Given the description of an element on the screen output the (x, y) to click on. 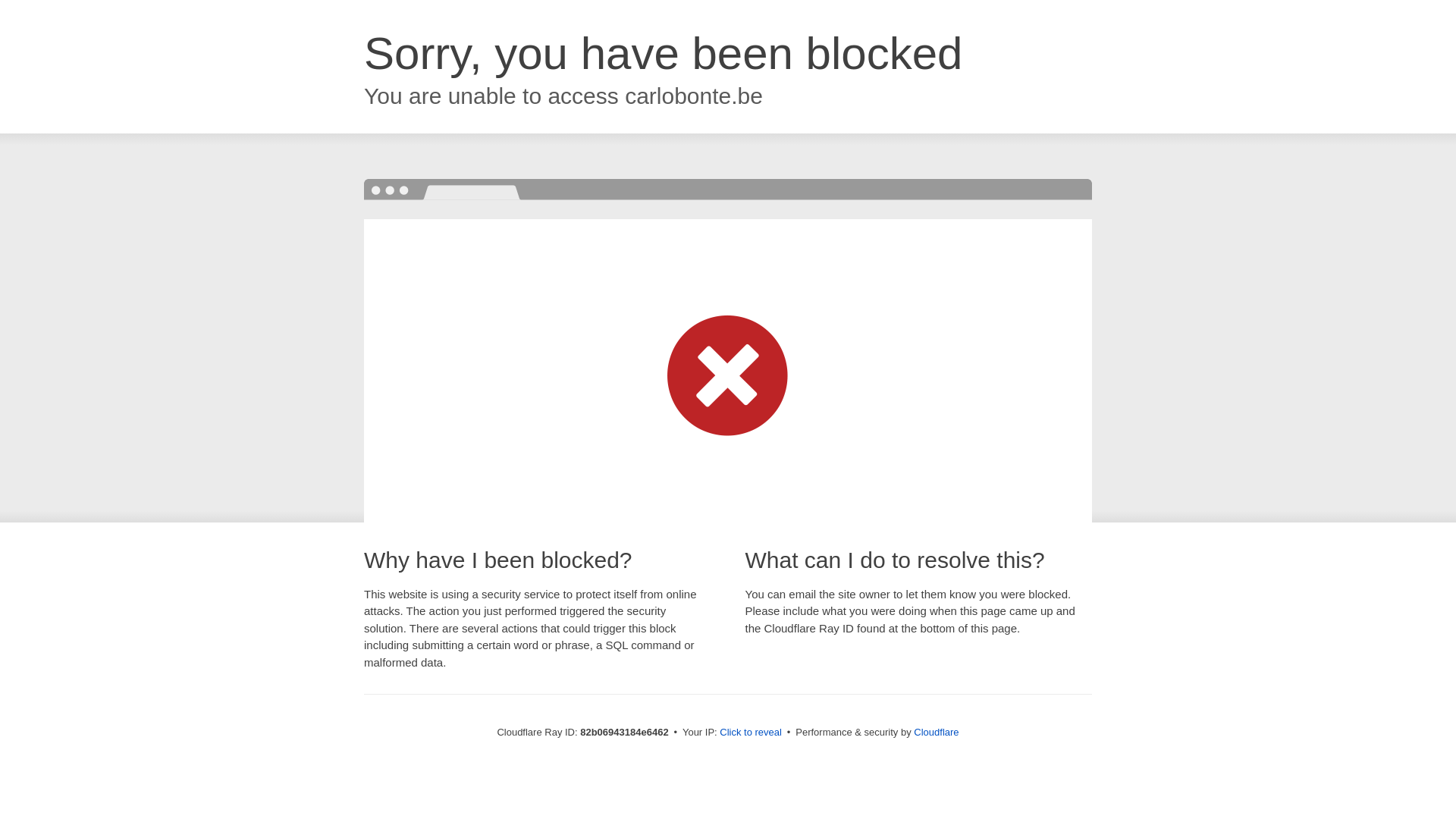
Click to reveal Element type: text (750, 732)
Cloudflare Element type: text (935, 731)
